Given the description of an element on the screen output the (x, y) to click on. 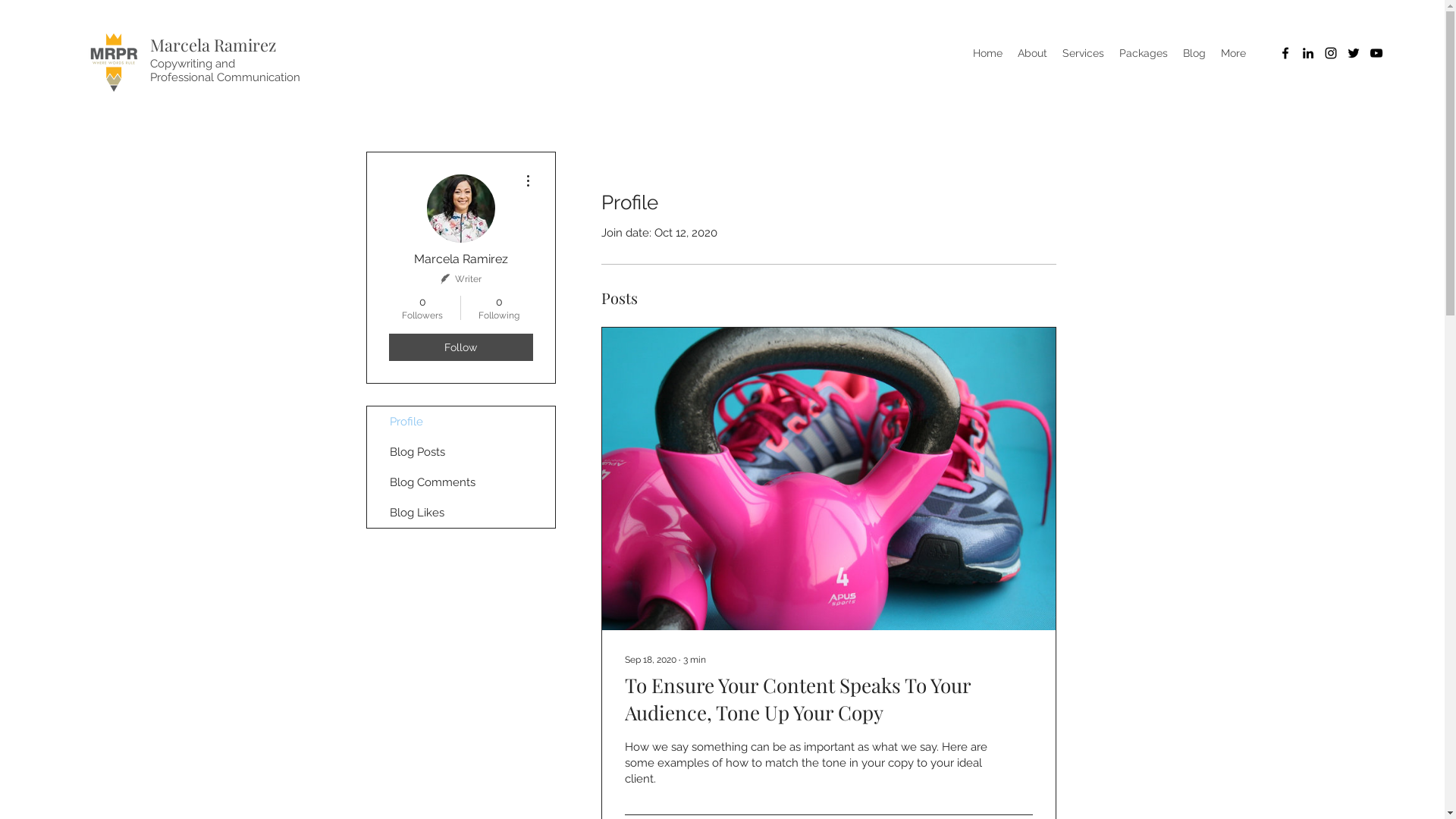
Home Element type: text (987, 52)
0
Following Element type: text (499, 307)
Blog Likes Element type: text (461, 512)
Profile Element type: text (461, 421)
About Element type: text (1032, 52)
Marcela Ramirez Element type: text (213, 44)
Blog Comments Element type: text (461, 482)
Packages Element type: text (1143, 52)
Blog Posts Element type: text (461, 451)
Follow Element type: text (460, 346)
0
Followers Element type: text (421, 307)
Blog Element type: text (1194, 52)
